Given the description of an element on the screen output the (x, y) to click on. 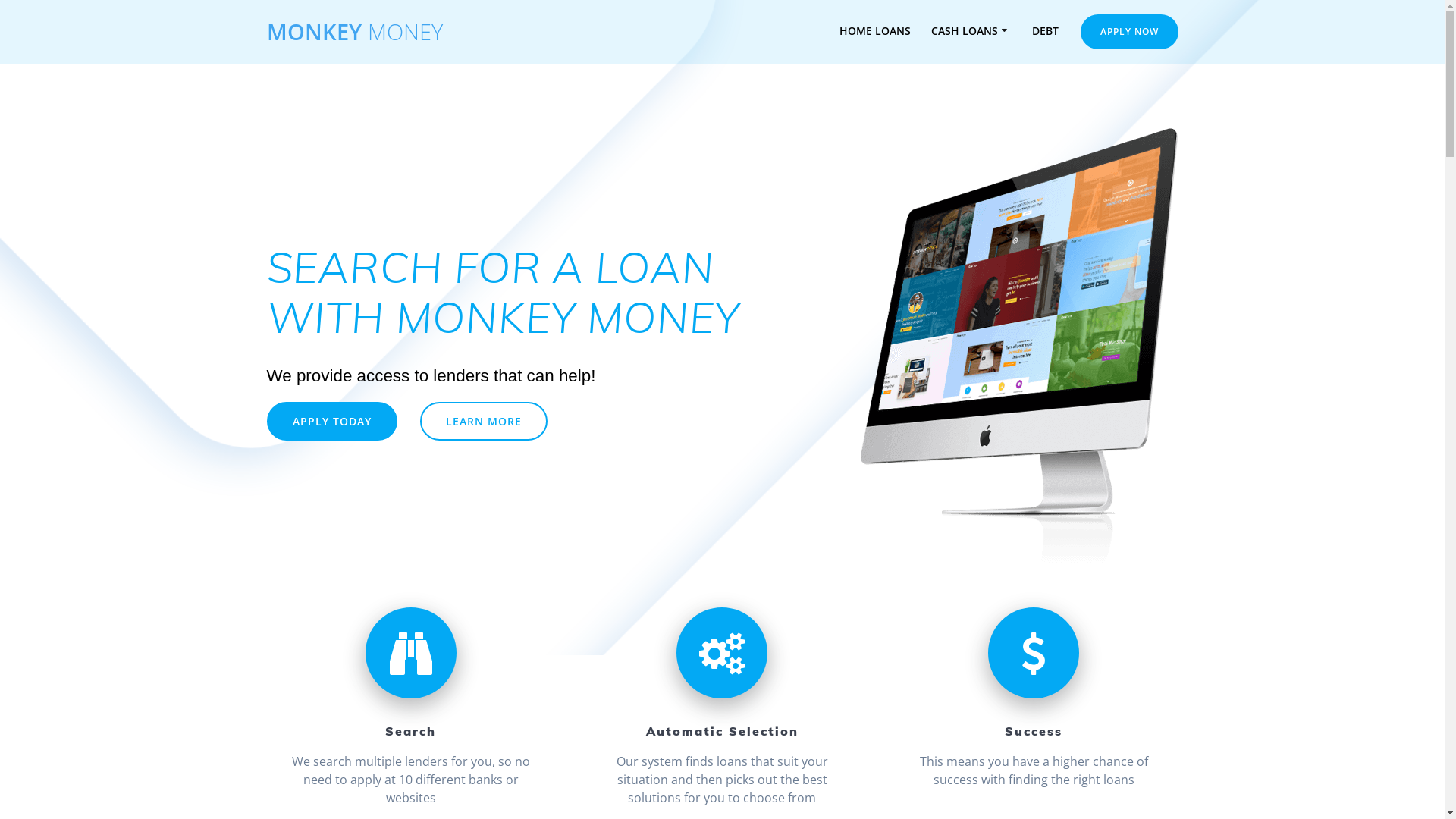
LEARN MORE Element type: text (483, 420)
APPLY TODAY Element type: text (331, 420)
HOME LOANS Element type: text (874, 31)
APPLY NOW Element type: text (1128, 31)
CASH LOANS Element type: text (971, 31)
DEBT Element type: text (1045, 31)
MONKEY MONEY Element type: text (354, 32)
